Given the description of an element on the screen output the (x, y) to click on. 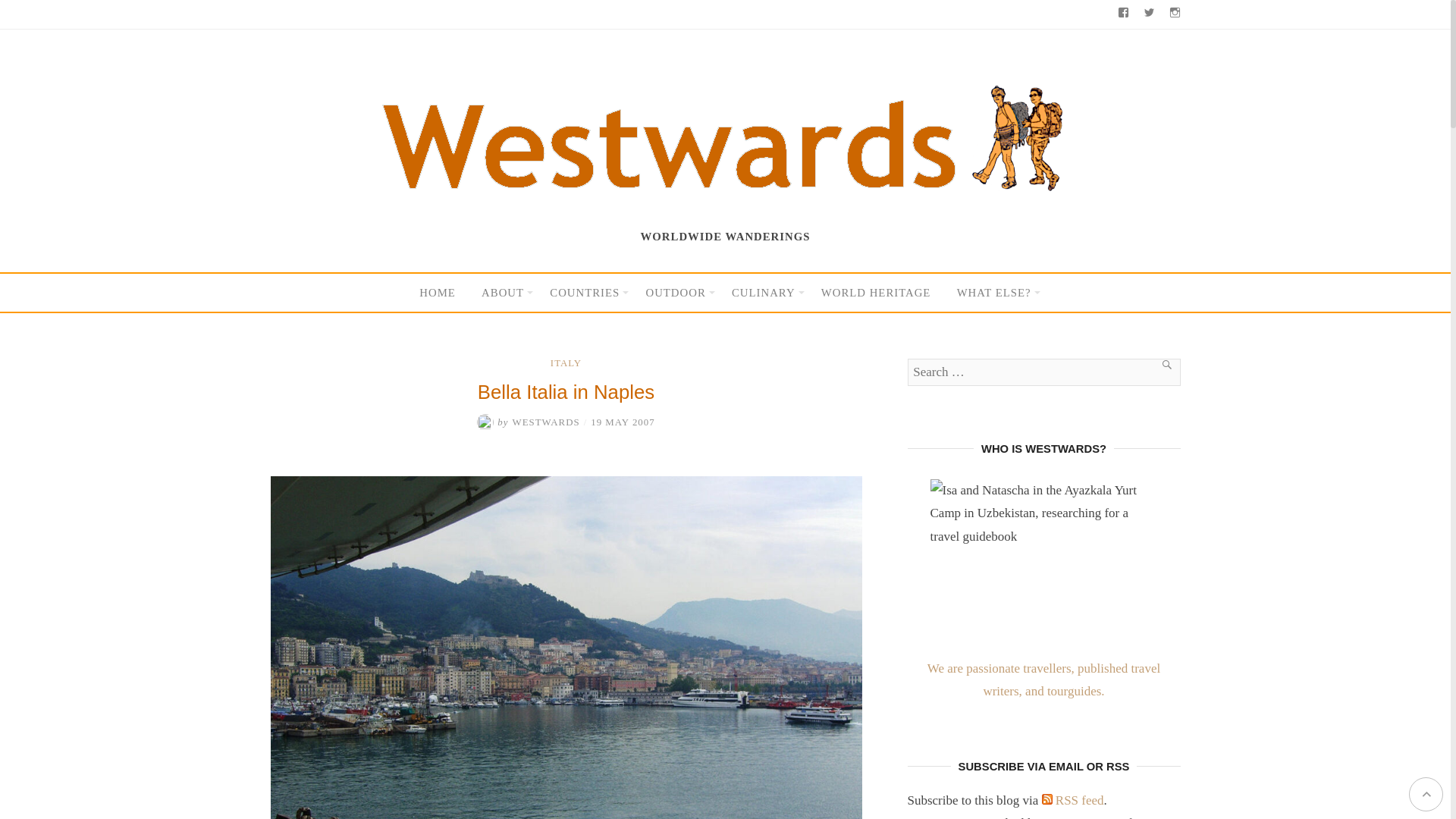
OUTDOOR (674, 292)
Instagram (1174, 14)
CULINARY (763, 292)
ABOUT (502, 292)
ITALY (565, 362)
COUNTRIES (585, 292)
Twitter (1148, 14)
Facebook (1123, 14)
WORLD HERITAGE (876, 292)
